Given the description of an element on the screen output the (x, y) to click on. 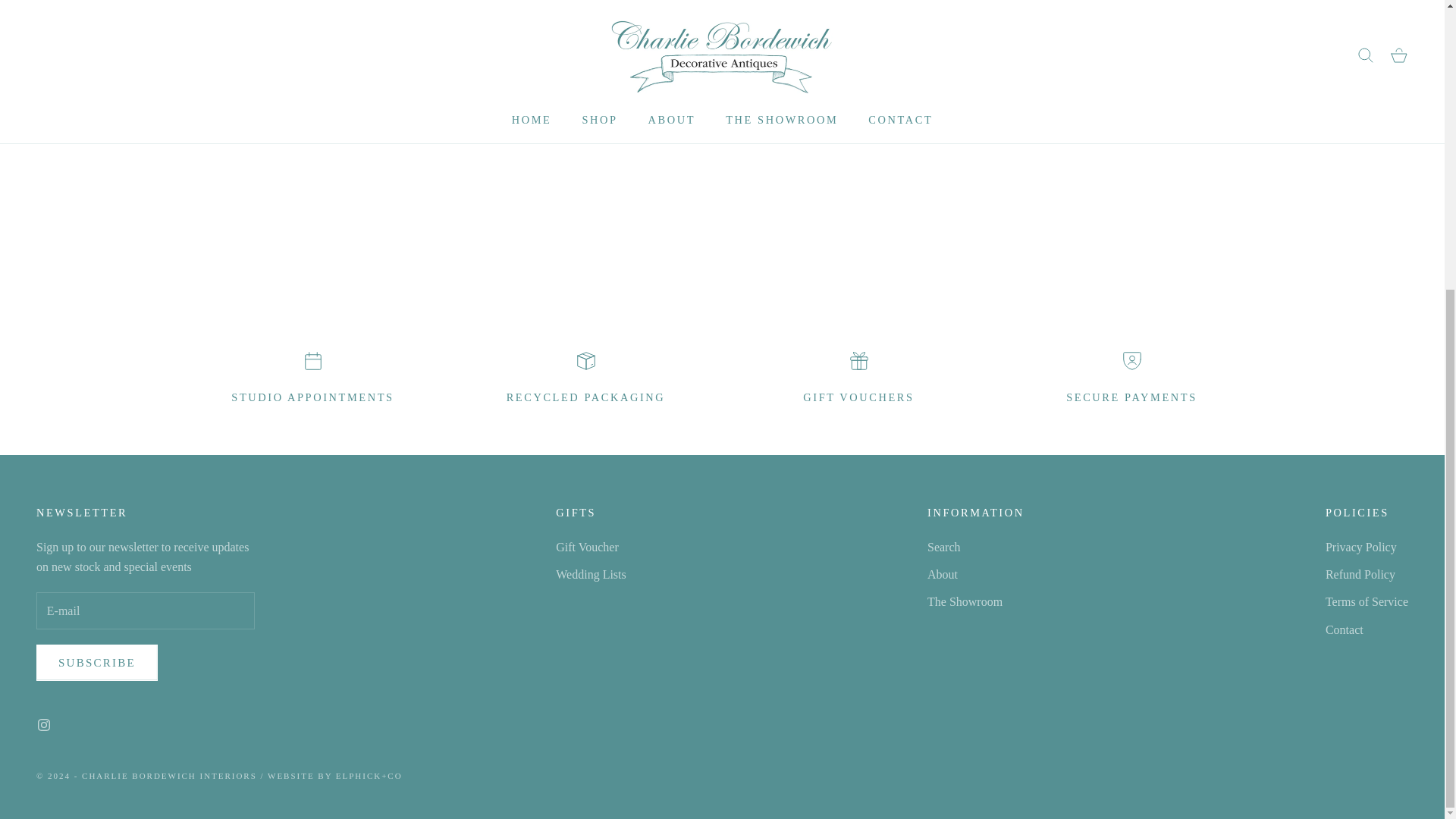
The Showroom (965, 601)
About (942, 574)
CONTINUE SHOPPING (721, 94)
SUBSCRIBE (96, 662)
Gift Voucher (587, 546)
Wedding Lists (591, 574)
Privacy Policy (1360, 546)
Search (943, 546)
Refund Policy (1359, 574)
